Given the description of an element on the screen output the (x, y) to click on. 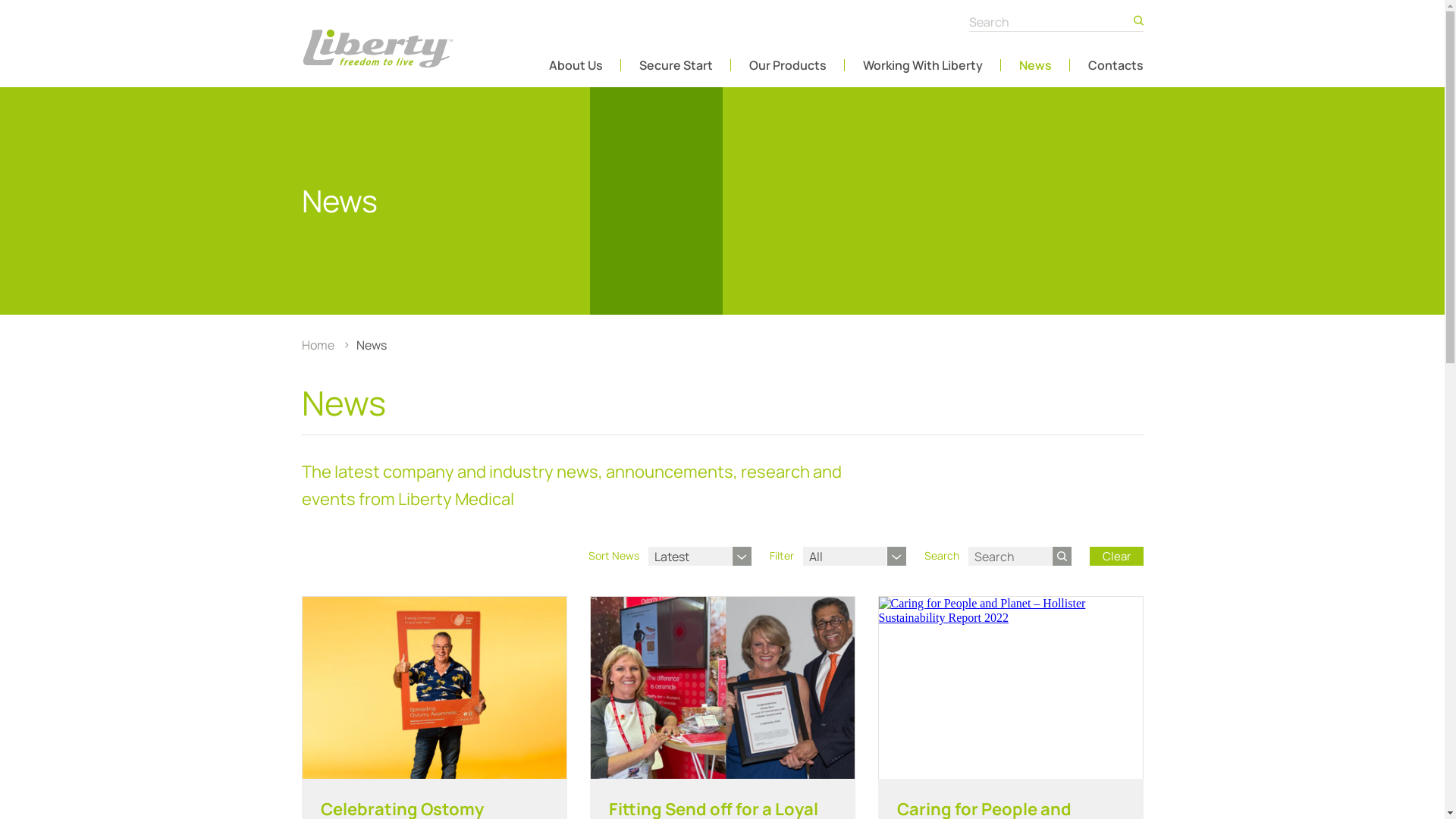
News Element type: text (1035, 65)
News Element type: text (371, 344)
Our Products Element type: text (787, 65)
Contacts Element type: text (1114, 65)
Working With Liberty Element type: text (922, 65)
Secure Start Element type: text (675, 65)
Clear Element type: text (1115, 555)
Home Element type: text (318, 344)
About Us Element type: text (575, 65)
